Given the description of an element on the screen output the (x, y) to click on. 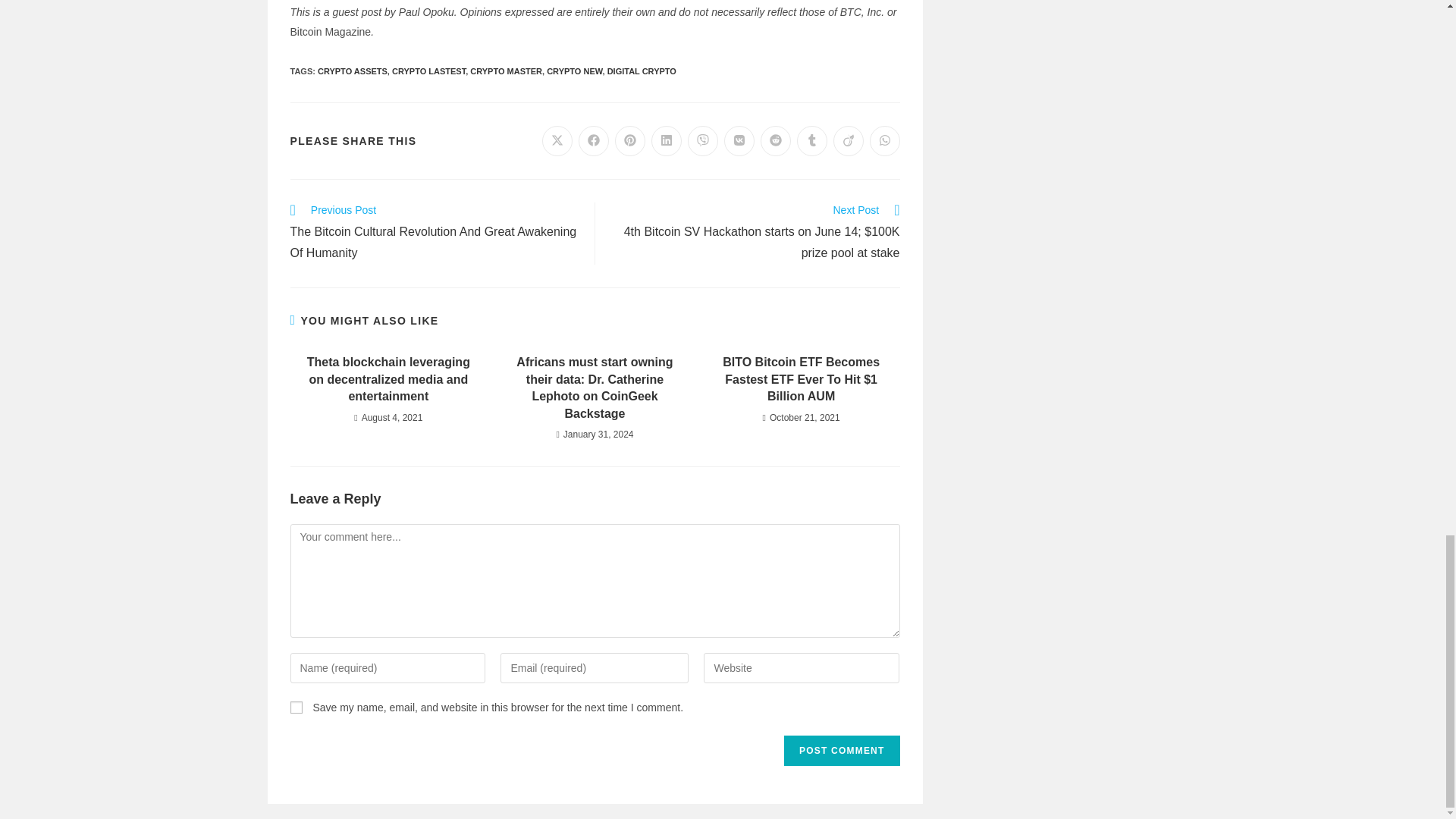
Post Comment (841, 750)
yes (295, 707)
